Given the description of an element on the screen output the (x, y) to click on. 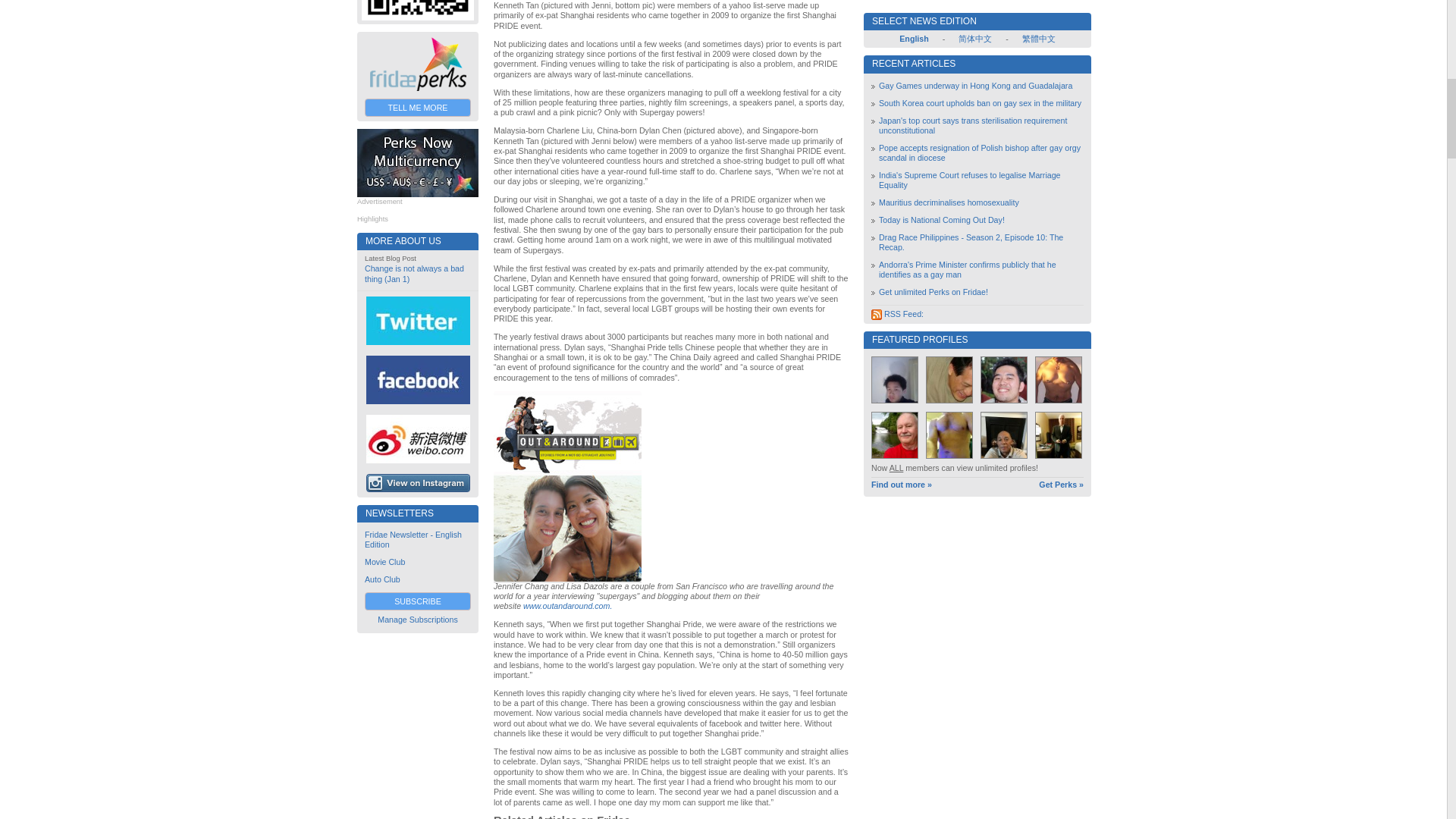
TELL ME MORE (417, 107)
Fridae Newsletter - English Edition (413, 538)
Movie Club (384, 561)
Auto Club (382, 578)
